Given the description of an element on the screen output the (x, y) to click on. 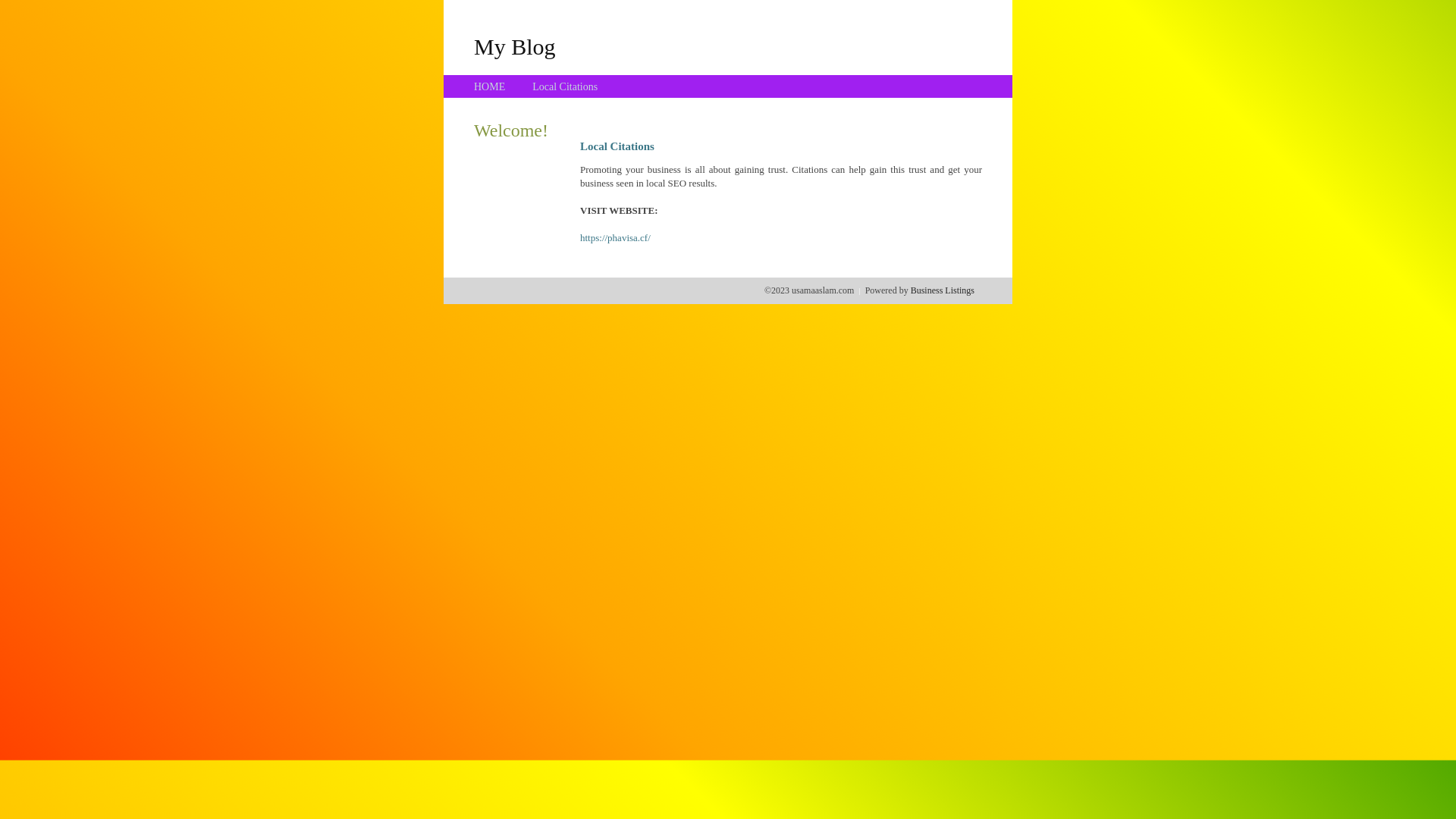
https://phavisa.cf/ Element type: text (615, 237)
Local Citations Element type: text (564, 86)
My Blog Element type: text (514, 46)
HOME Element type: text (489, 86)
Business Listings Element type: text (942, 290)
